Given the description of an element on the screen output the (x, y) to click on. 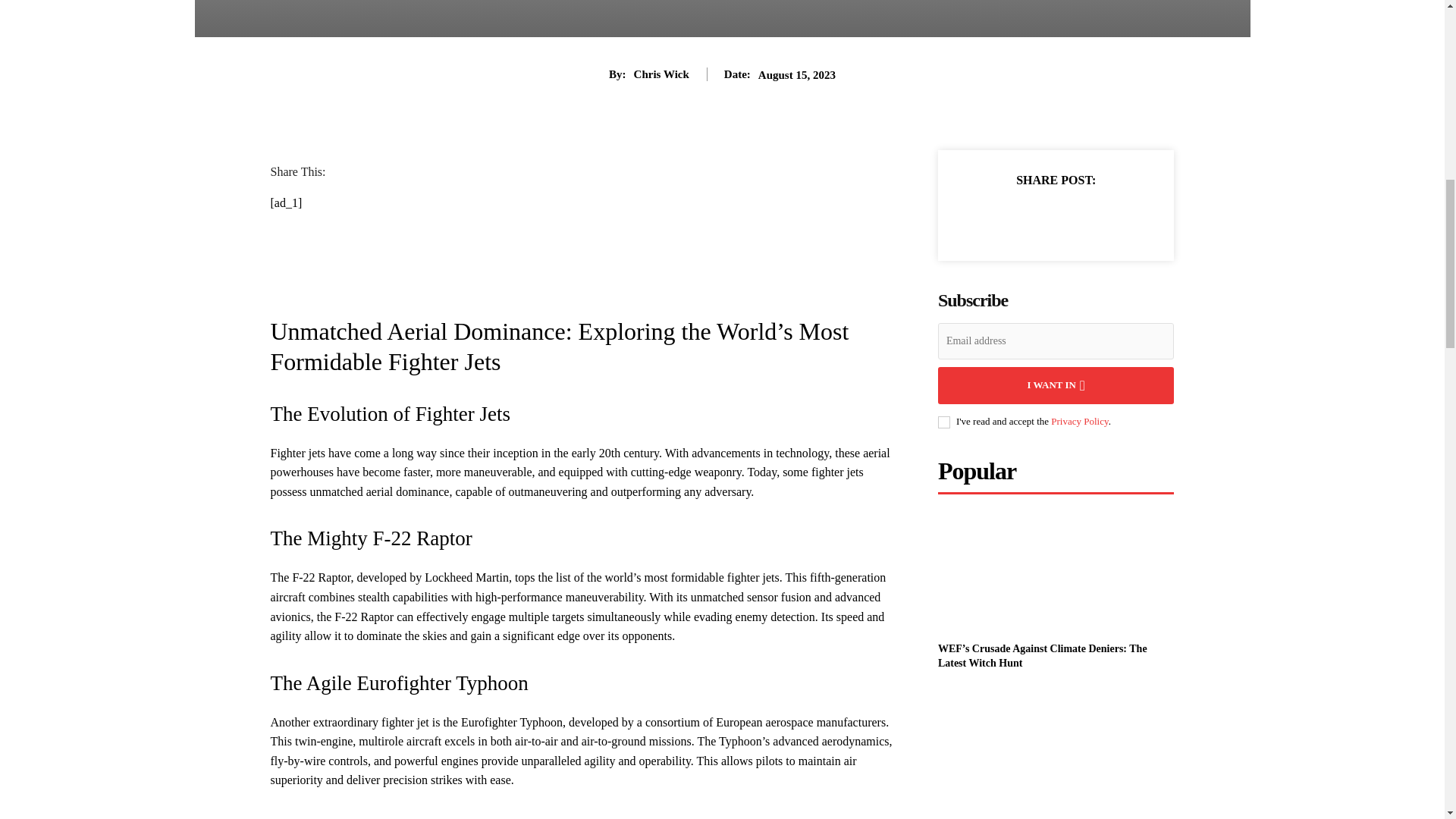
Chris Wick (660, 74)
